Given the description of an element on the screen output the (x, y) to click on. 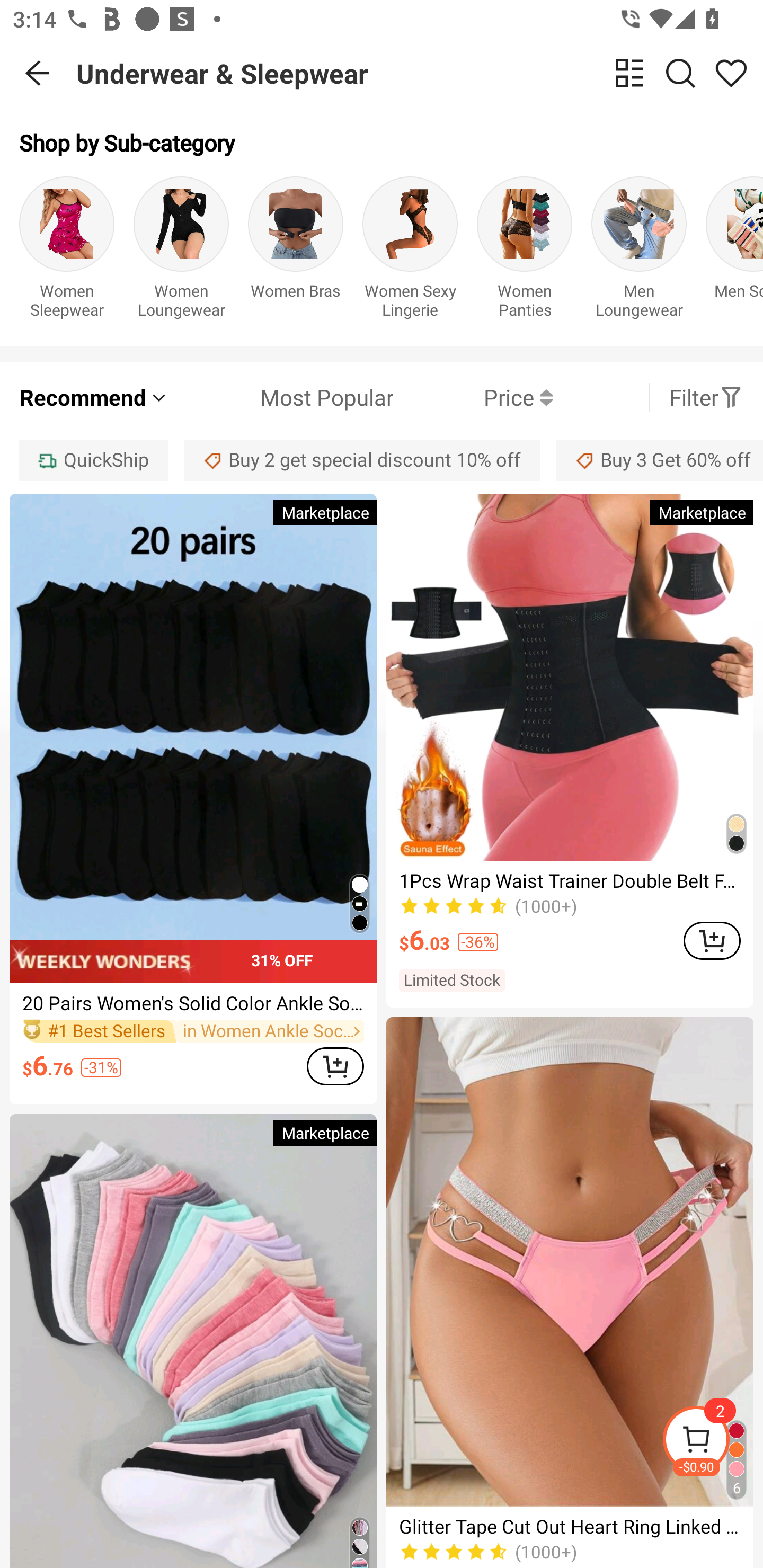
Underwear & Sleepwear change view Search Share (419, 72)
change view (629, 72)
Search (679, 72)
Share (730, 72)
Women Sleepwear (66, 251)
Women Loungewear (180, 251)
Women Bras (295, 251)
Women Sexy Lingerie (409, 251)
Women Panties (524, 251)
Men Loungewear (638, 251)
Men Loungewear (638, 251)
Men Socks (734, 251)
Recommend (94, 397)
Most Popular (280, 397)
Price (472, 397)
Filter (705, 397)
QuickShip (93, 460)
Buy 2 get special discount 10% off (361, 460)
Buy 3 Get 60% off (659, 460)
ADD TO CART (711, 940)
#1 Best Sellers in Women Ankle Socks (192, 1031)
ADD TO CART (334, 1066)
-$0.90 (712, 1441)
